Given the description of an element on the screen output the (x, y) to click on. 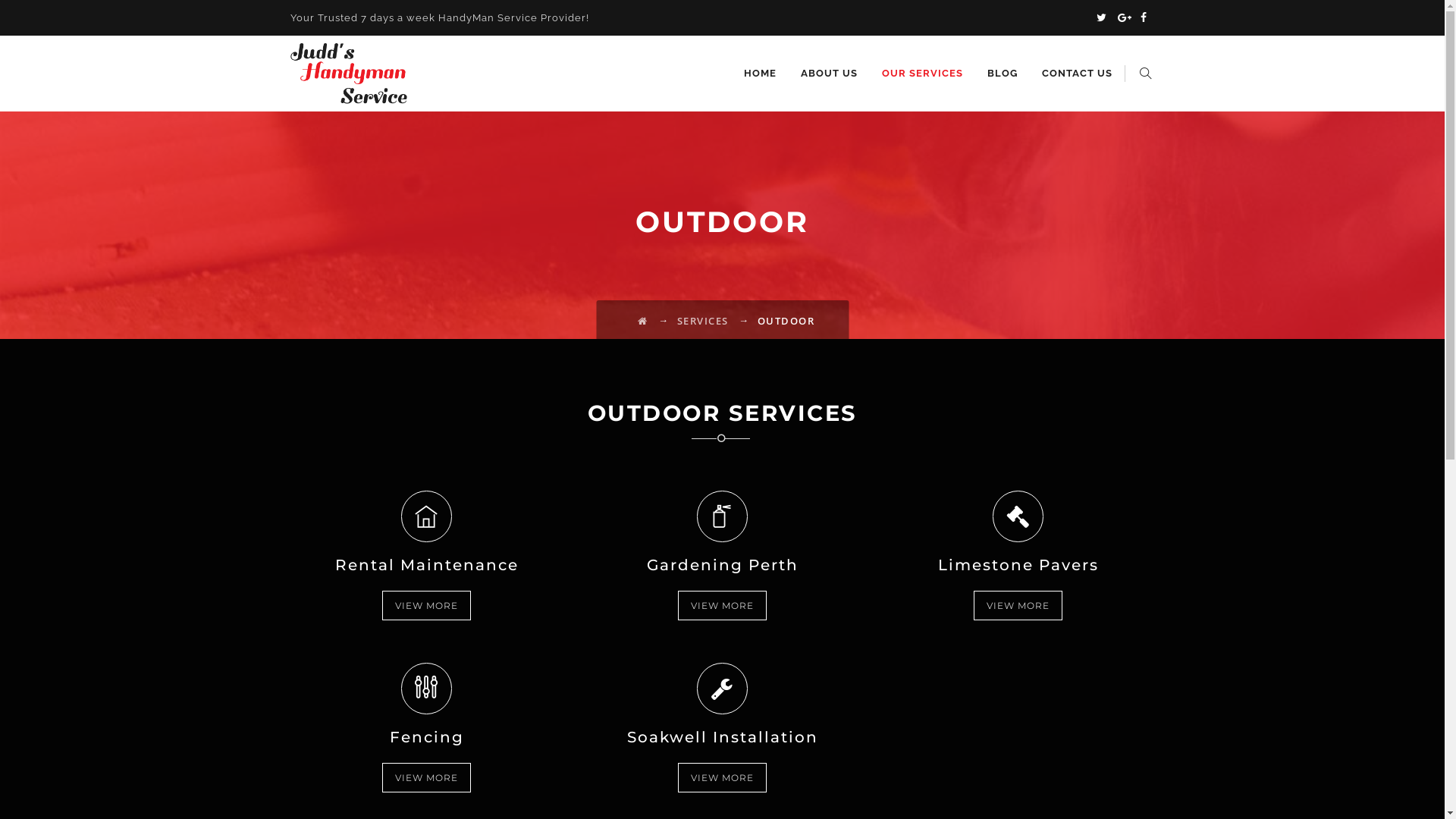
VIEW MORE Element type: text (426, 777)
CONTACT US Element type: text (1076, 73)
BLOG Element type: text (1002, 73)
ABOUT US Element type: text (828, 73)
HOME Element type: text (759, 73)
VIEW MORE Element type: text (721, 605)
SERVICES Element type: text (702, 320)
OUR SERVICES Element type: text (922, 73)
VIEW MORE Element type: text (426, 605)
VIEW MORE Element type: text (1017, 605)
VIEW MORE Element type: text (721, 777)
